Given the description of an element on the screen output the (x, y) to click on. 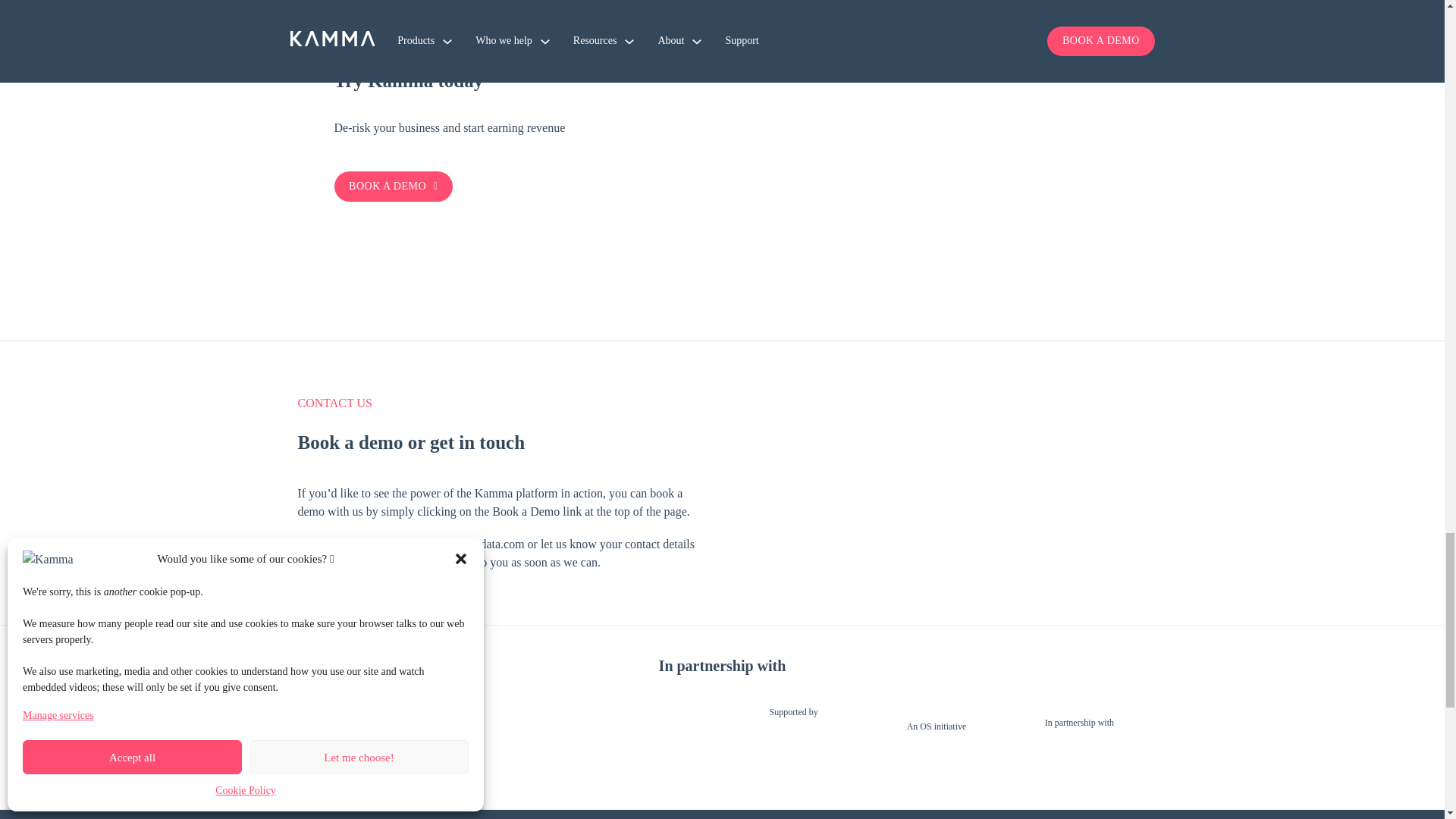
Form 0 (945, 450)
